Given the description of an element on the screen output the (x, y) to click on. 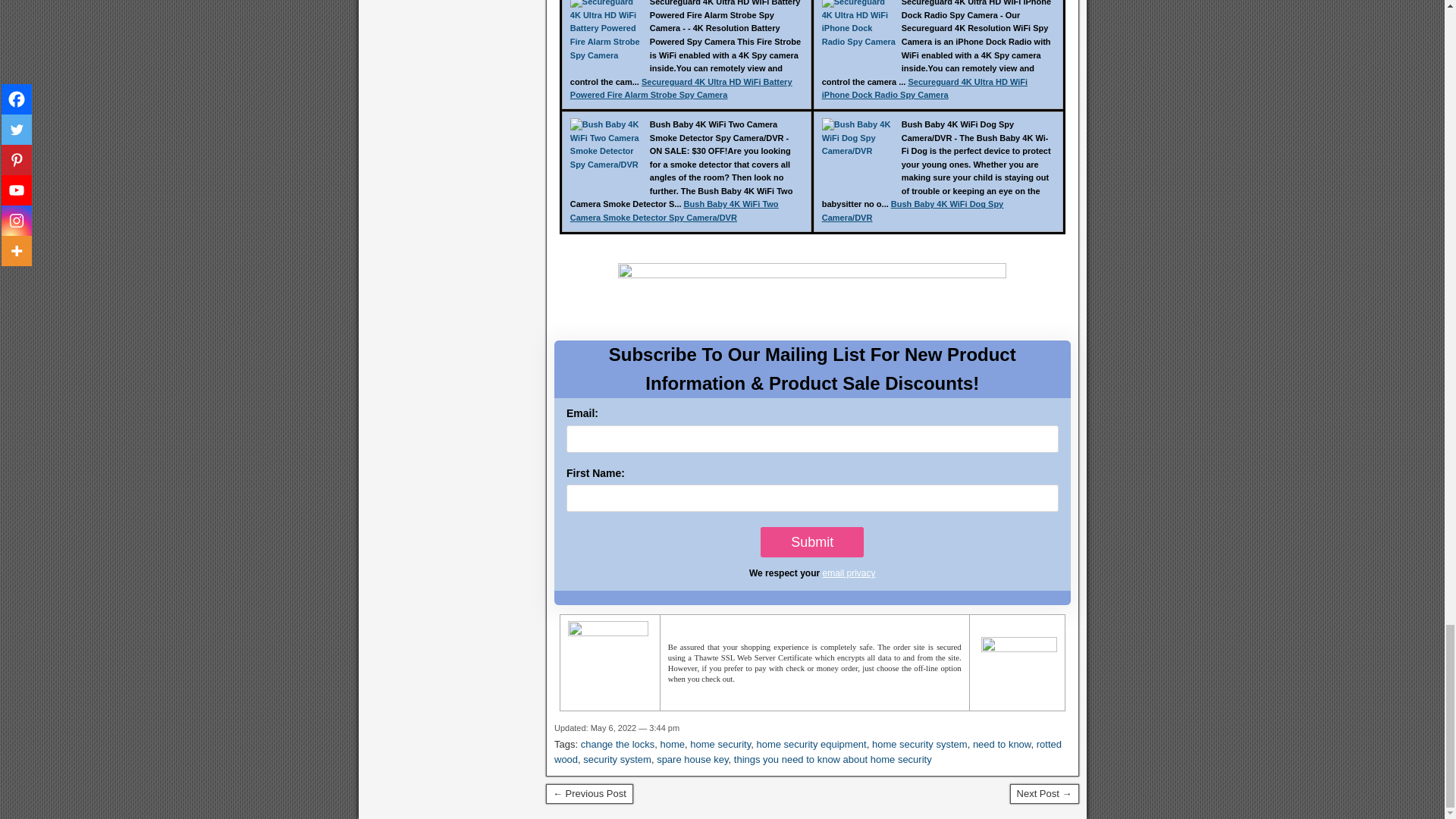
Every One Needs A Front Porch Camera (589, 793)
The Outlet Spy Cam Make The Perfect Nanny Cam (1044, 793)
Privacy Policy (848, 573)
Submit (811, 542)
